Given the description of an element on the screen output the (x, y) to click on. 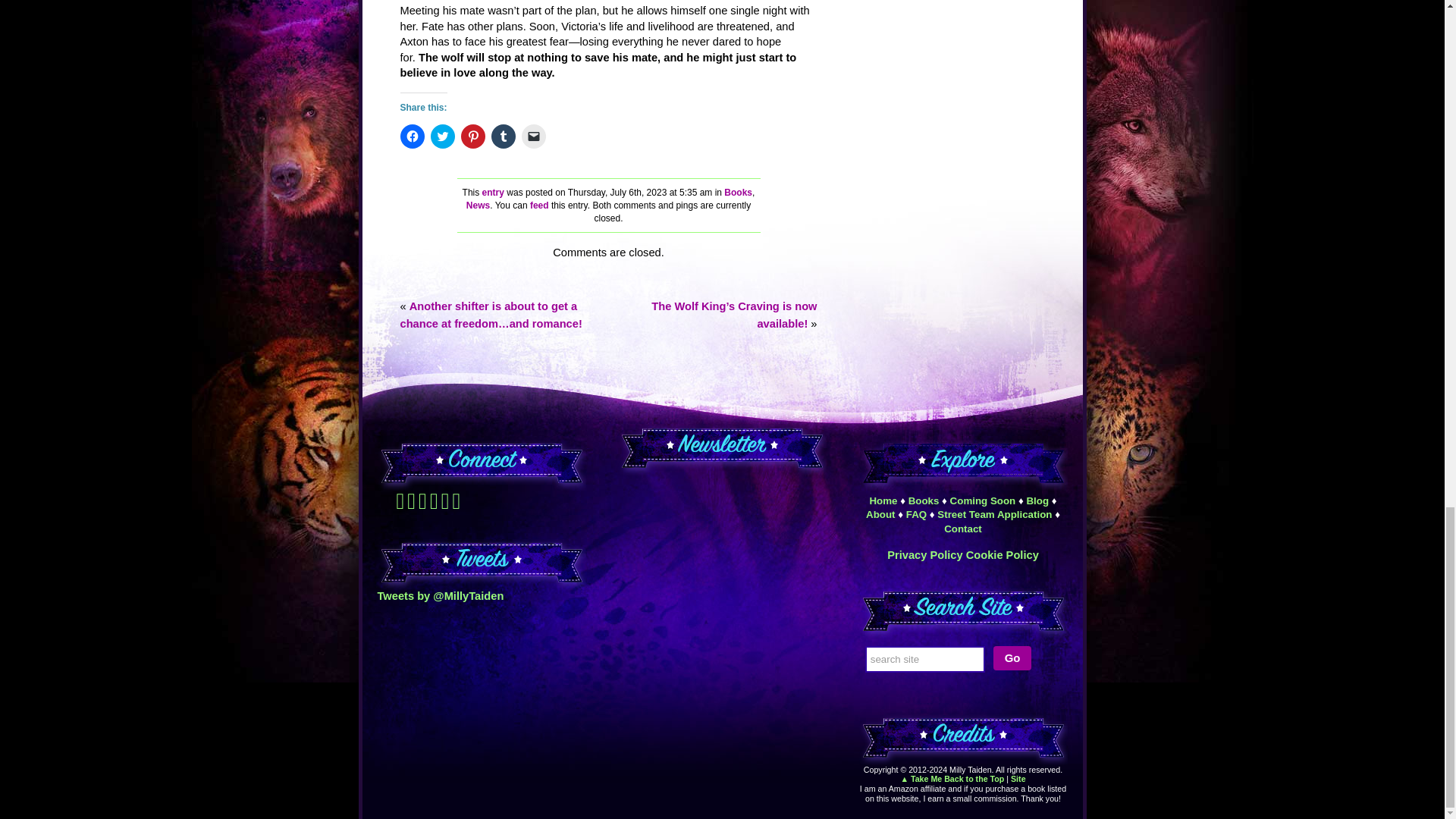
Go (1011, 658)
News (477, 204)
search site (924, 659)
search site (924, 659)
entry (492, 192)
Books (737, 192)
feed (538, 204)
